Given the description of an element on the screen output the (x, y) to click on. 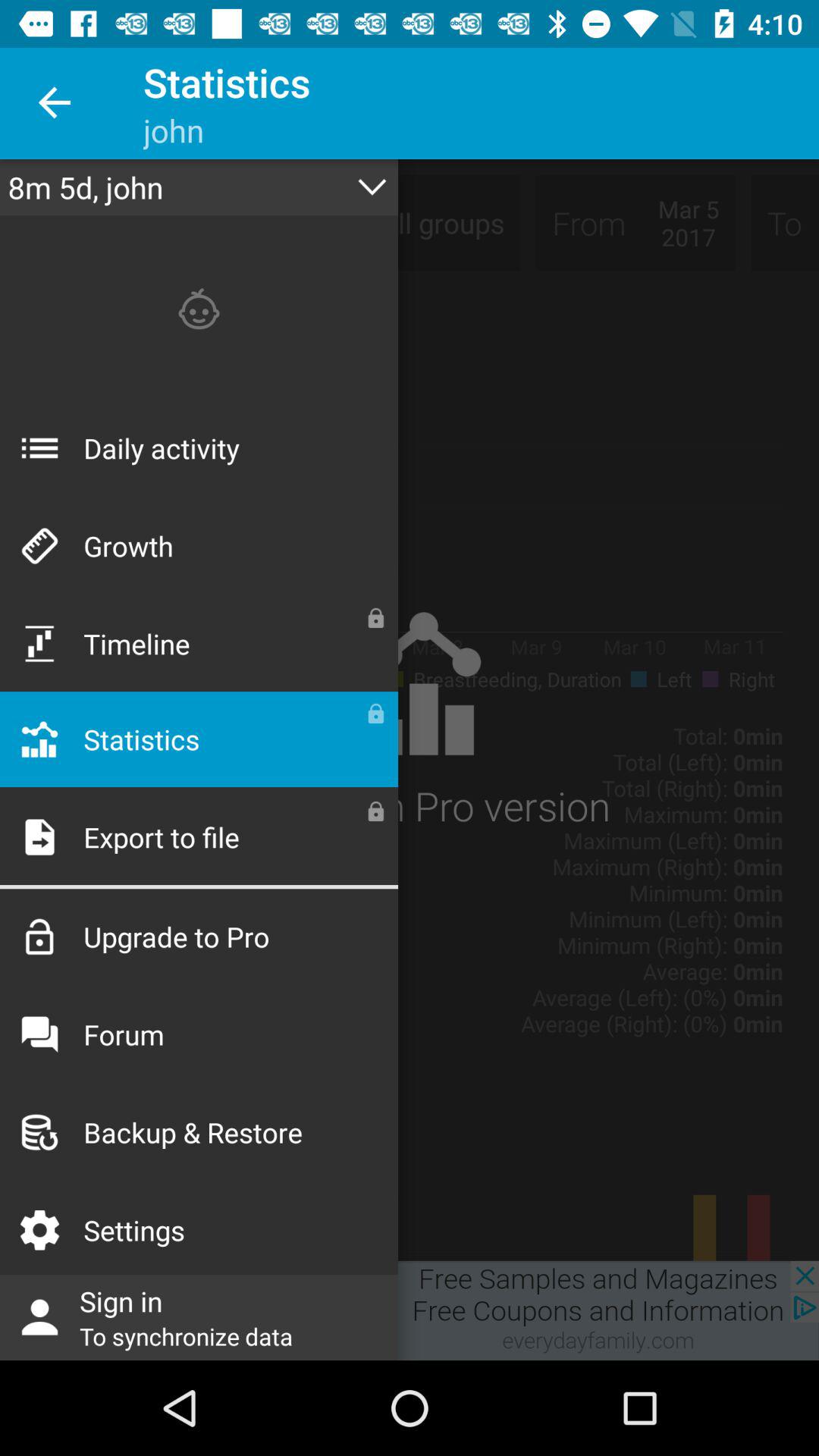
select the text from mar 5 2017 (635, 222)
